Given the description of an element on the screen output the (x, y) to click on. 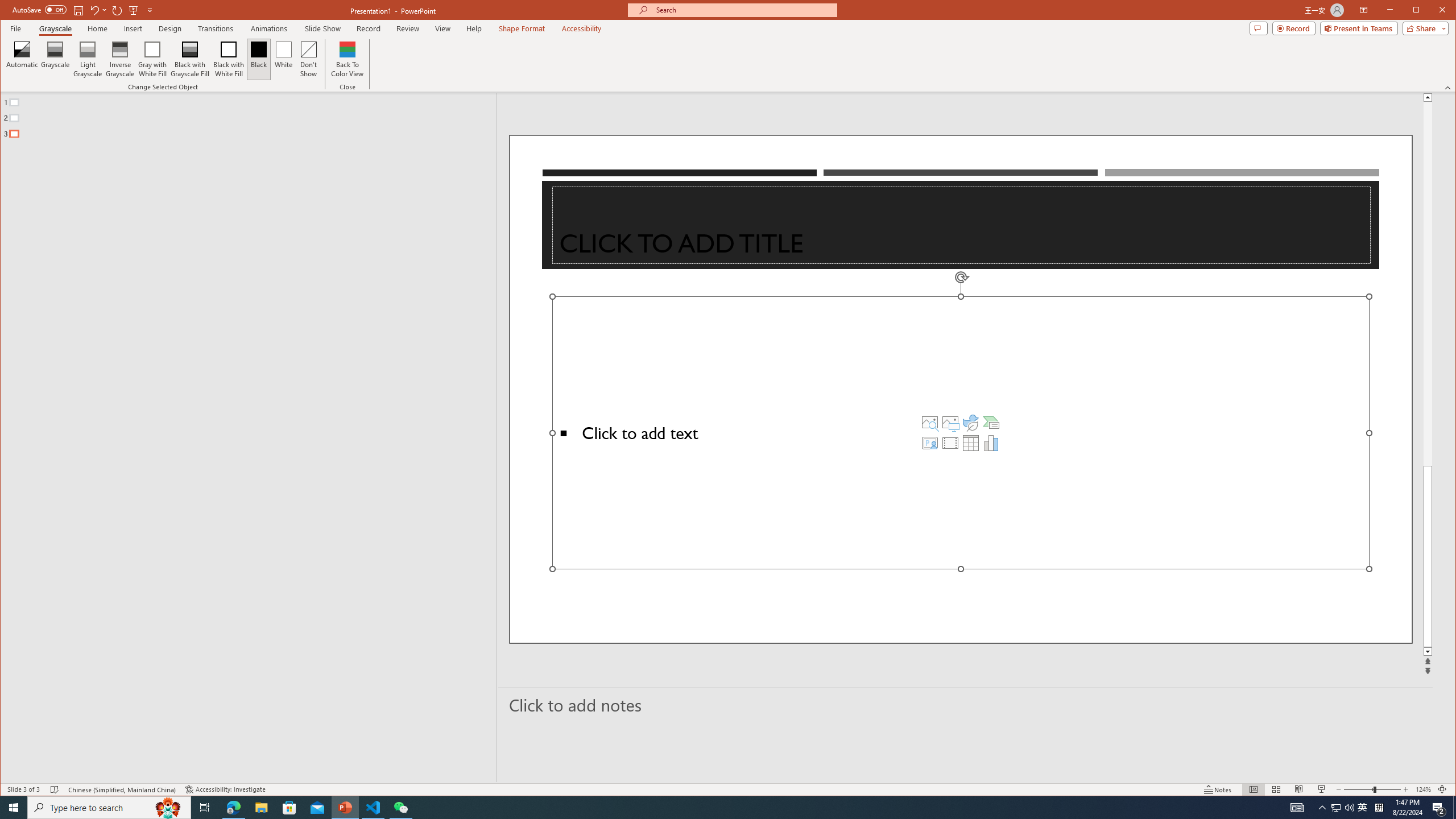
PowerPoint - 1 running window (345, 807)
Start (13, 807)
Comments (1258, 28)
Light Grayscale (87, 59)
Content Placeholder (960, 432)
Running applications (707, 807)
Show desktop (1454, 807)
Accessibility Checker Accessibility: Investigate (225, 789)
Inverse Grayscale (119, 59)
Title TextBox (960, 224)
Rectangle (242, 436)
Design (170, 28)
